Given the description of an element on the screen output the (x, y) to click on. 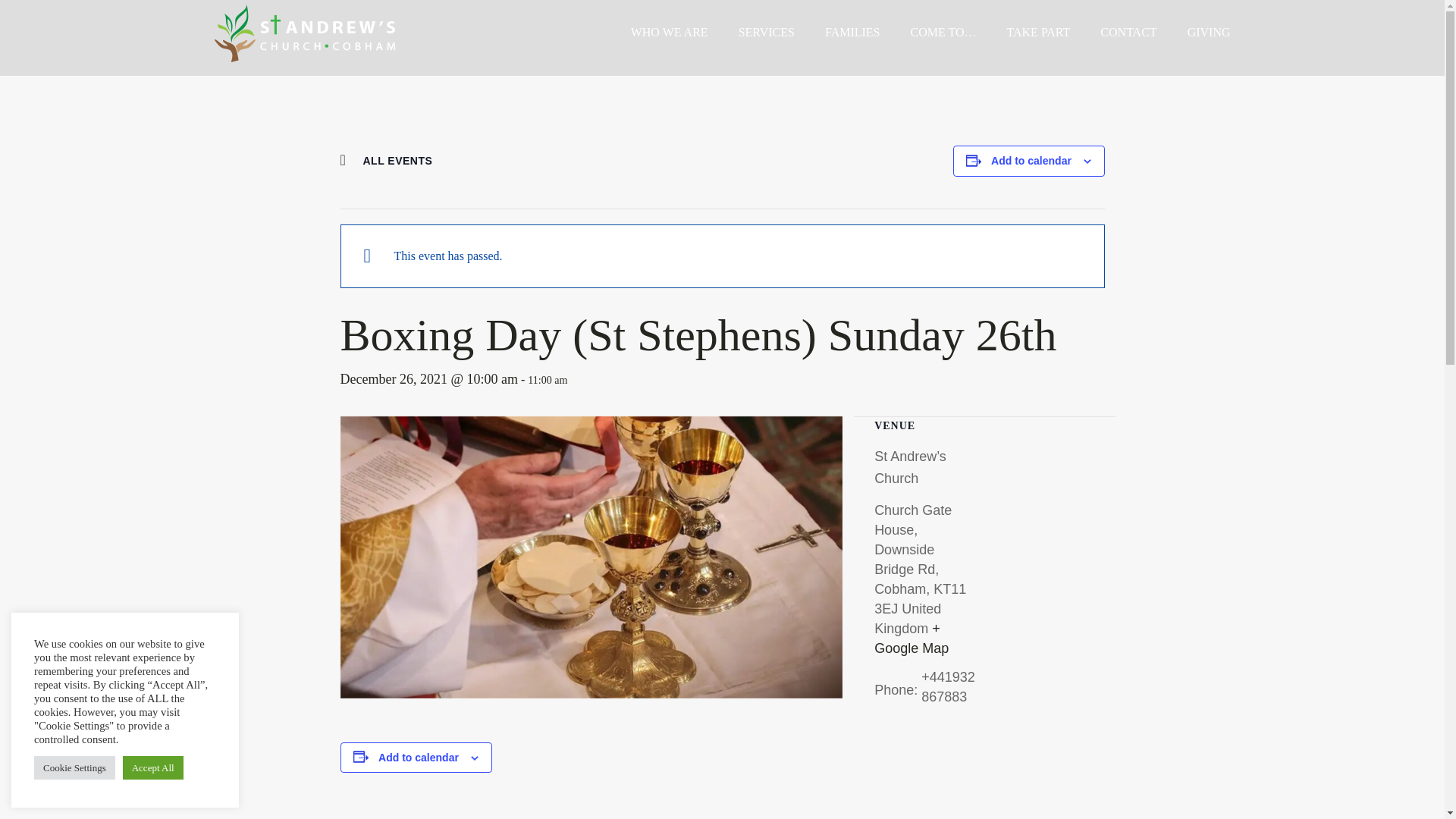
Click to view a Google Map (912, 638)
